Given the description of an element on the screen output the (x, y) to click on. 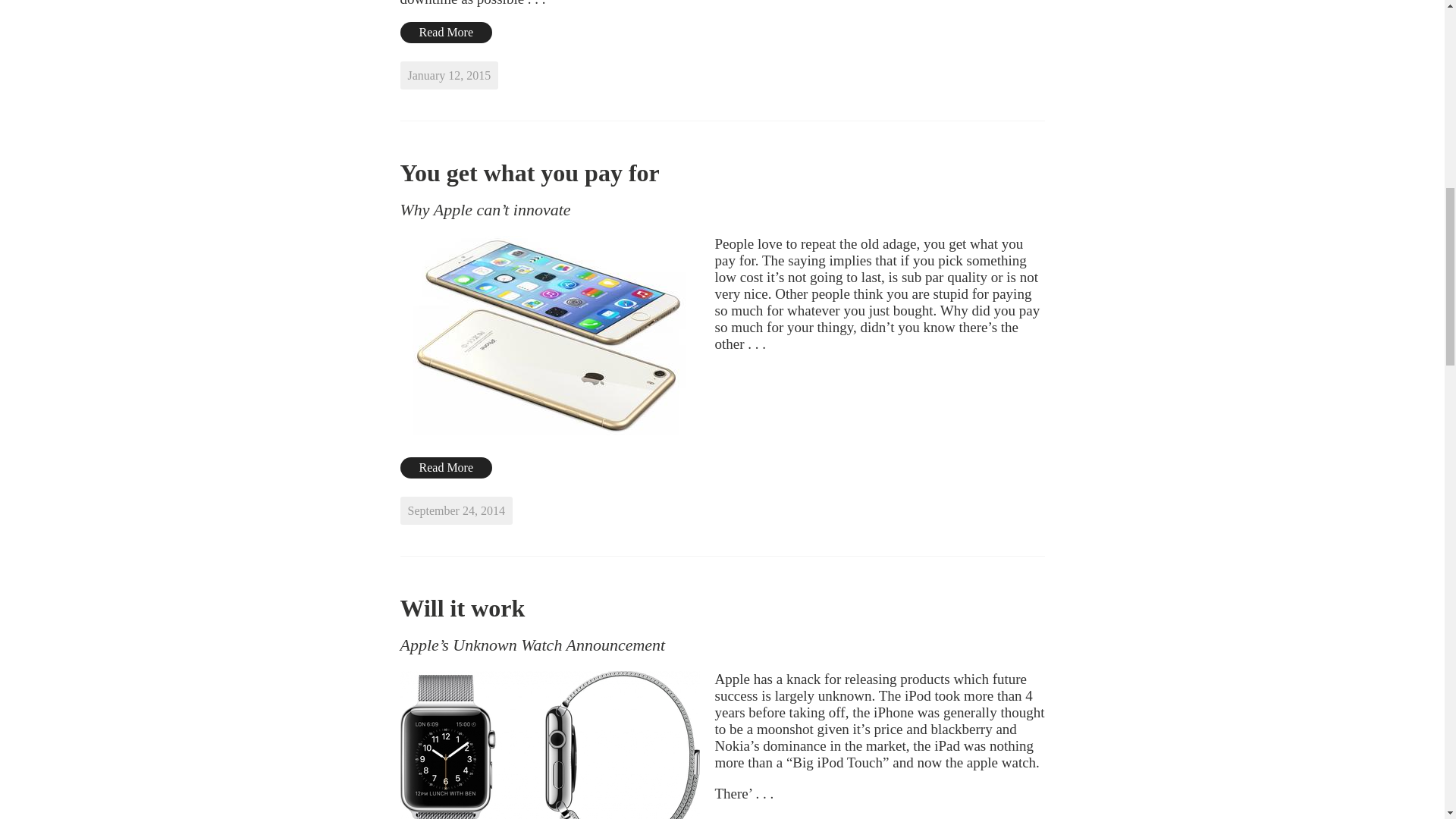
Will it work (462, 607)
Read More (446, 32)
Read More (446, 467)
You get what you pay for (529, 172)
